Given the description of an element on the screen output the (x, y) to click on. 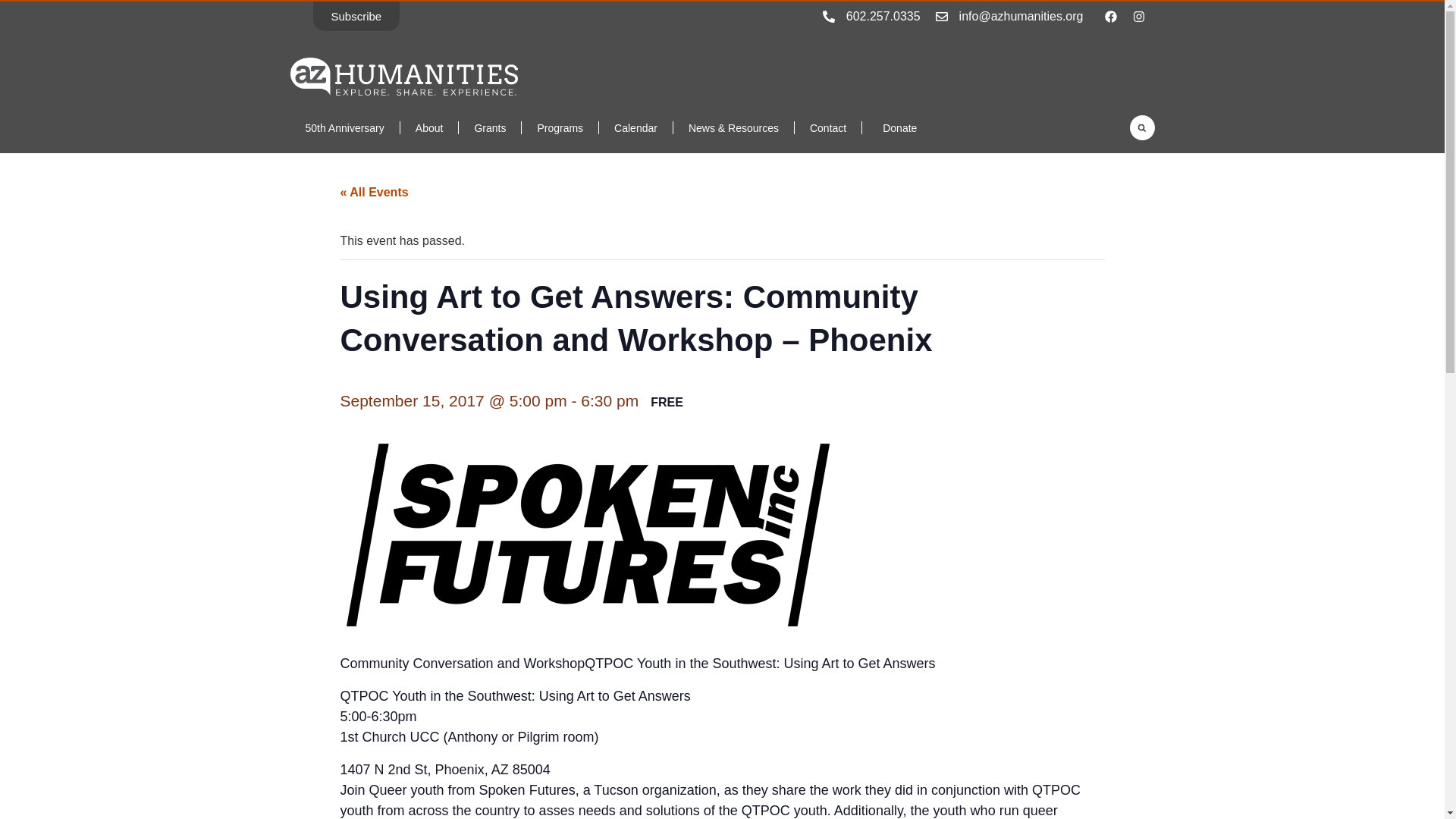
About (429, 127)
602.257.0335 (882, 15)
50th Anniversary (343, 127)
Donate (896, 127)
Programs (559, 127)
Subscribe (355, 16)
Calendar (635, 127)
Grants (489, 127)
Contact (827, 127)
